Given the description of an element on the screen output the (x, y) to click on. 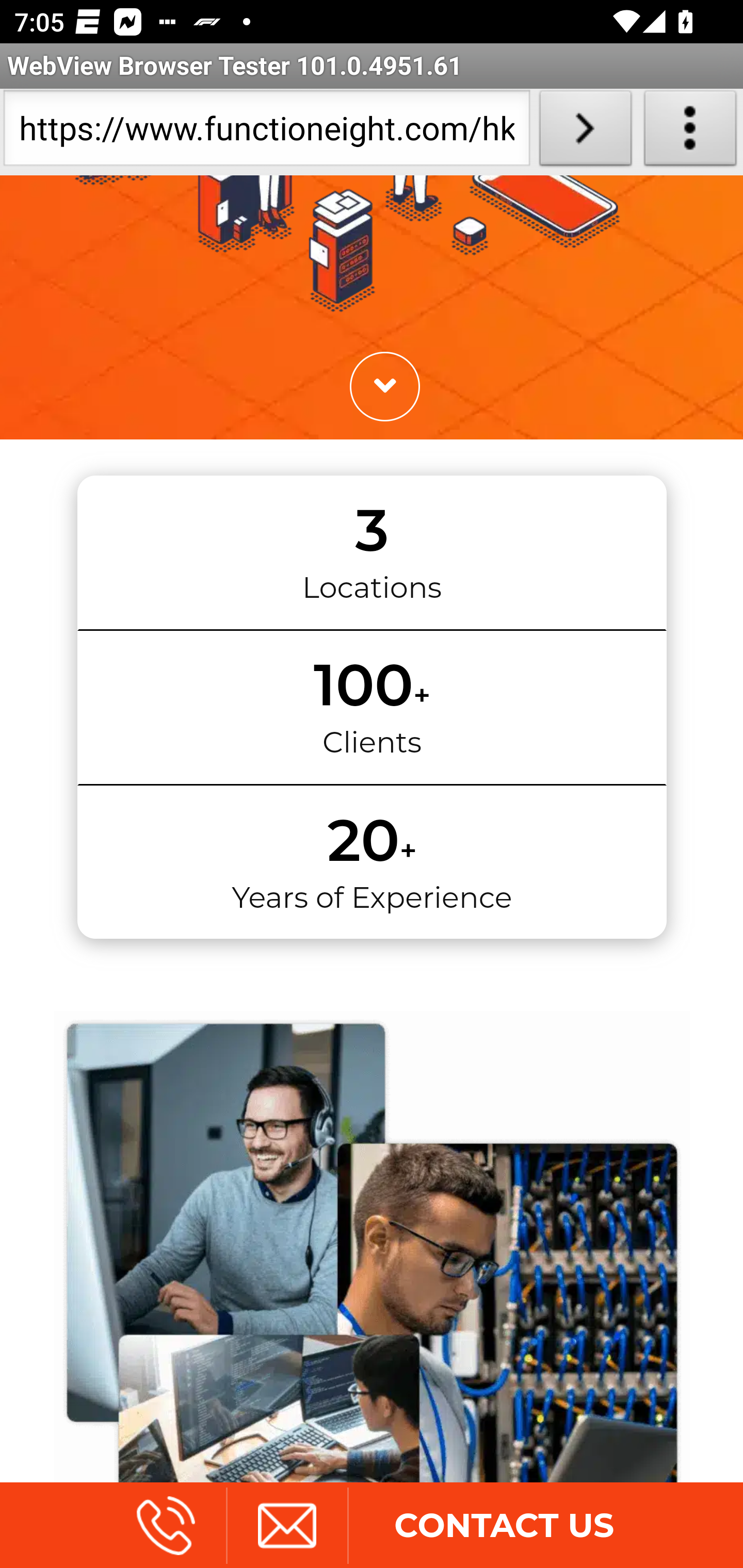
Load URL (585, 132)
About WebView (690, 132)
Link to #section-about-functioneight  (384, 388)
email (286, 1527)
CONTACT US (504, 1527)
